Given the description of an element on the screen output the (x, y) to click on. 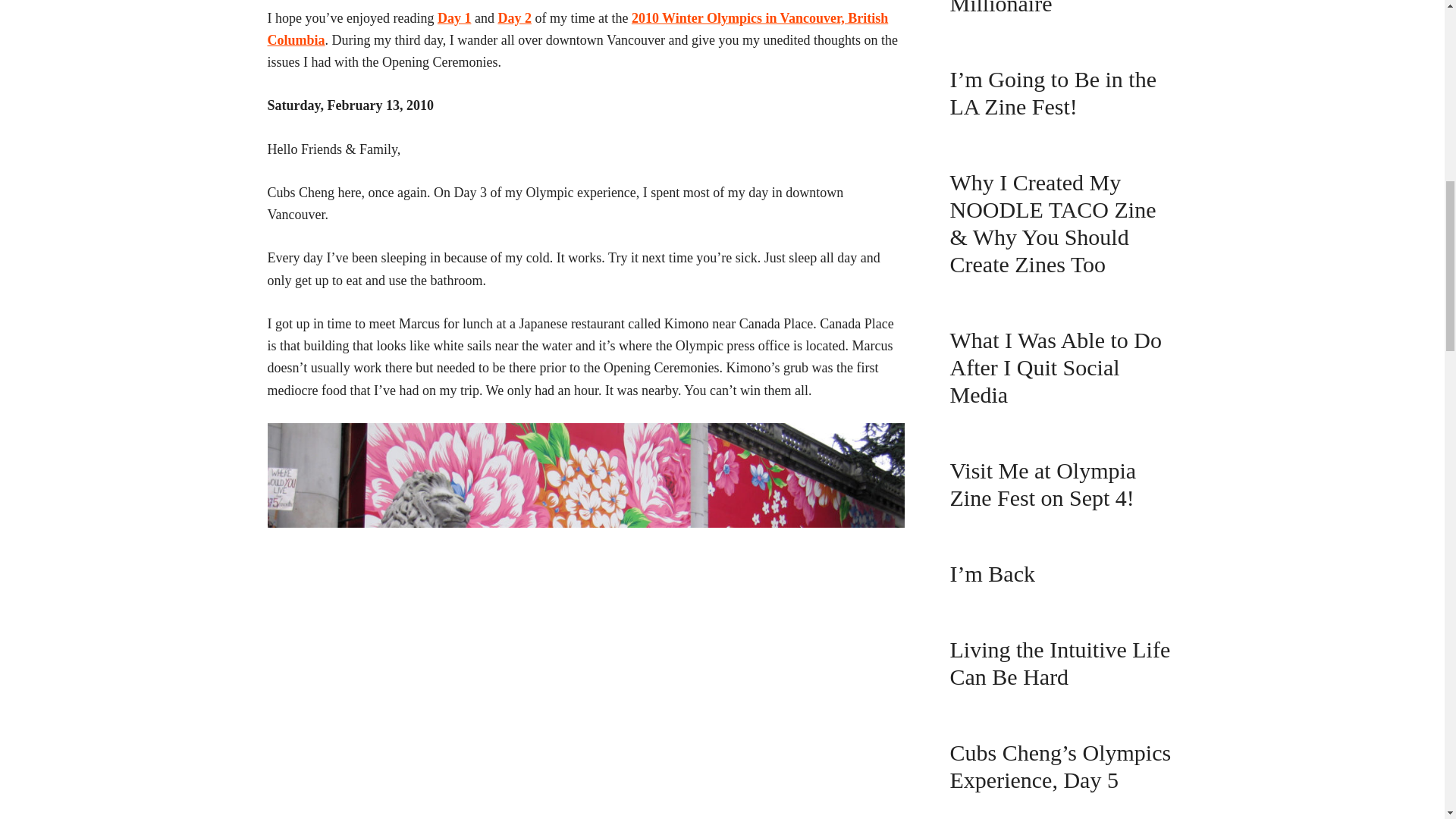
Visit Me at Olympia Zine Fest on Sept 4! (1042, 483)
Day 1 (454, 17)
How a Blue Butterfly Helped Me Write Rebel Millionaire (1057, 7)
Living the Intuitive Life Can Be Hard (1059, 663)
2010 Winter Olympics in Vancouver, British Columbia (577, 28)
Day 2 (514, 17)
What I Was Able to Do After I Quit Social Media (1054, 367)
